Given the description of an element on the screen output the (x, y) to click on. 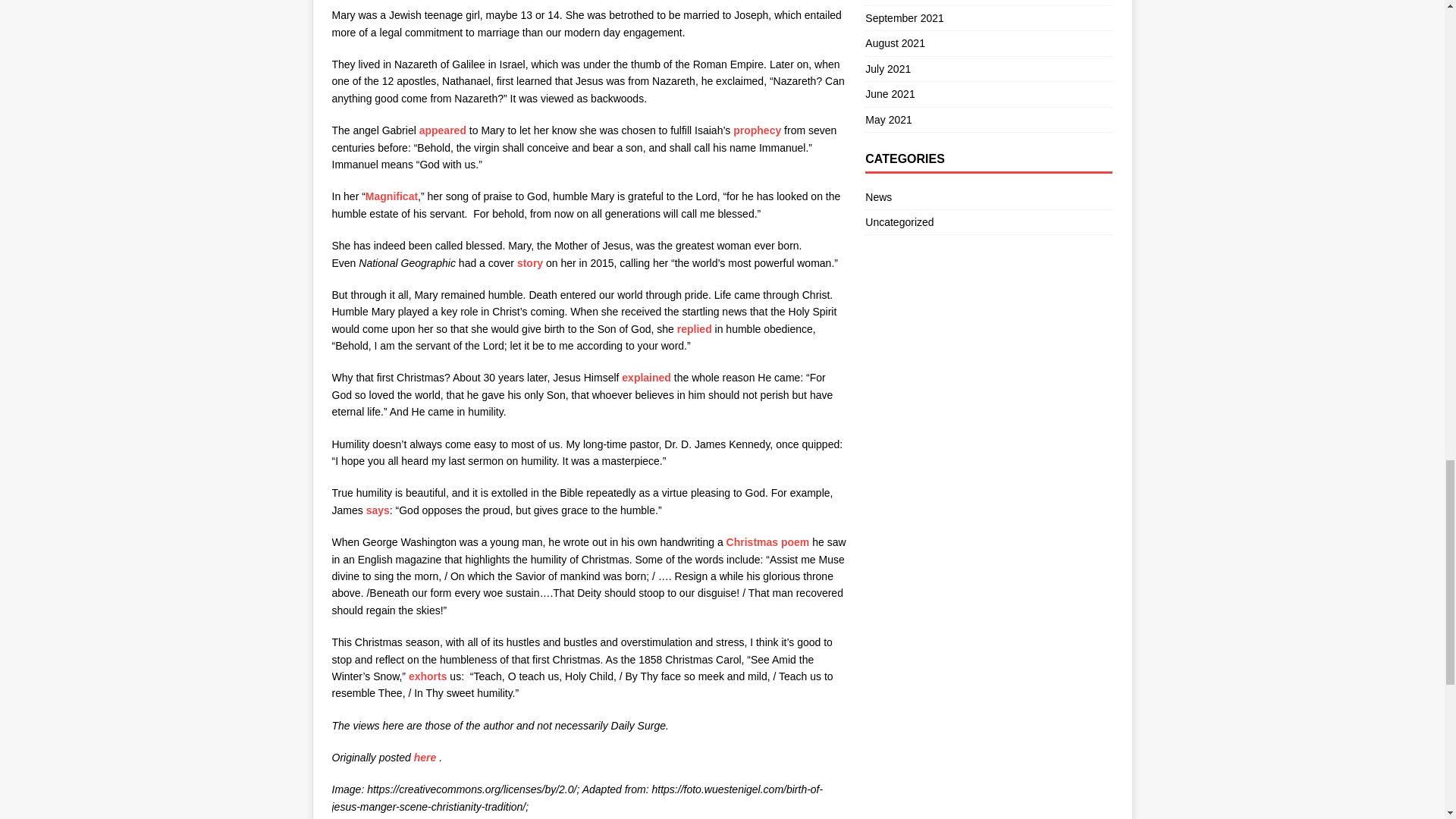
appeared (442, 130)
story (529, 262)
here (424, 757)
replied (694, 328)
says (378, 510)
Christmas poem (767, 541)
prophecy (756, 130)
Magnificat (391, 196)
exhorts (427, 676)
explained (646, 377)
